Given the description of an element on the screen output the (x, y) to click on. 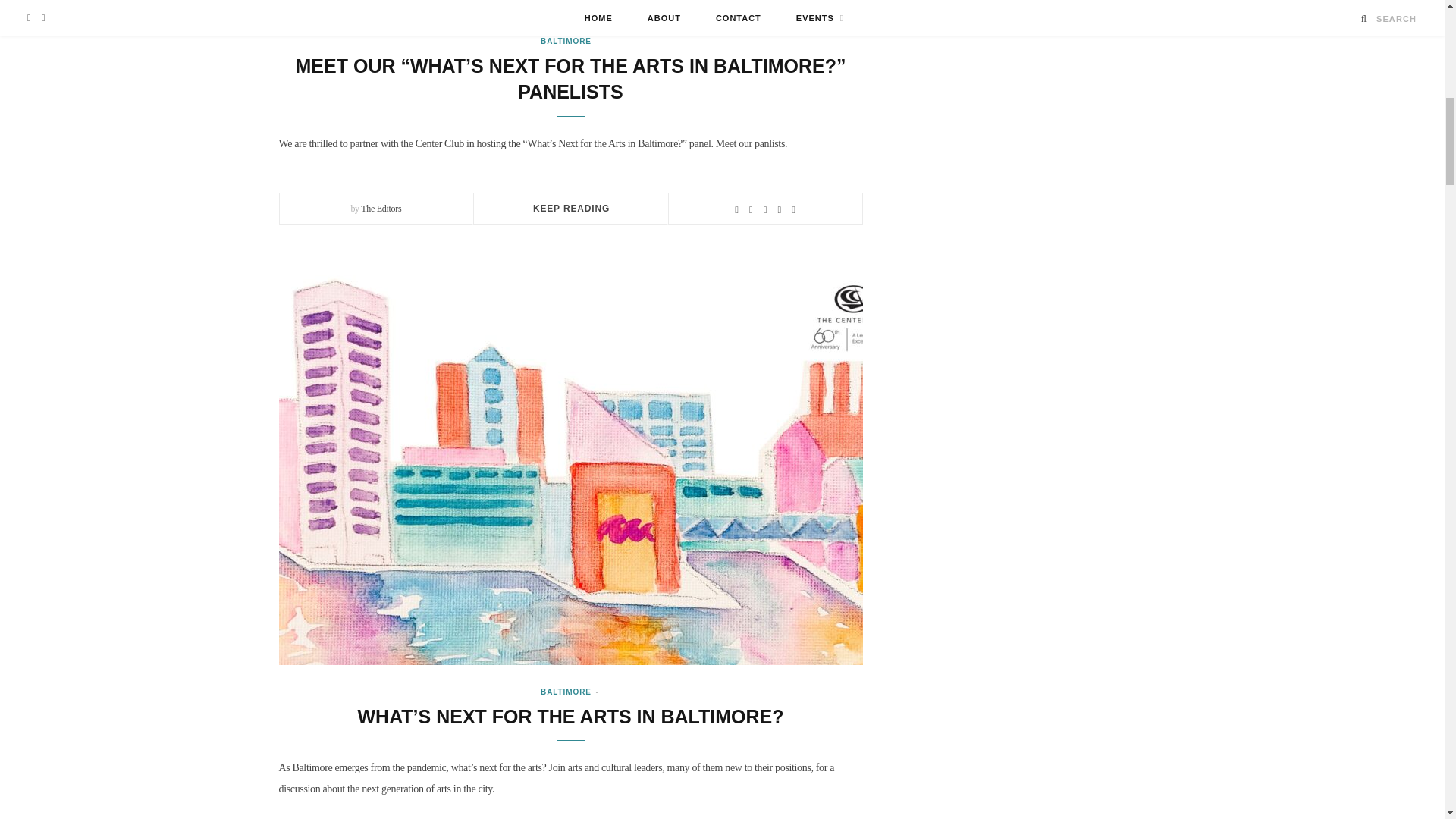
BALTIMORE (565, 40)
Posts by The Editors (381, 208)
BALTIMORE (565, 691)
KEEP READING (571, 208)
The Editors (381, 208)
